Given the description of an element on the screen output the (x, y) to click on. 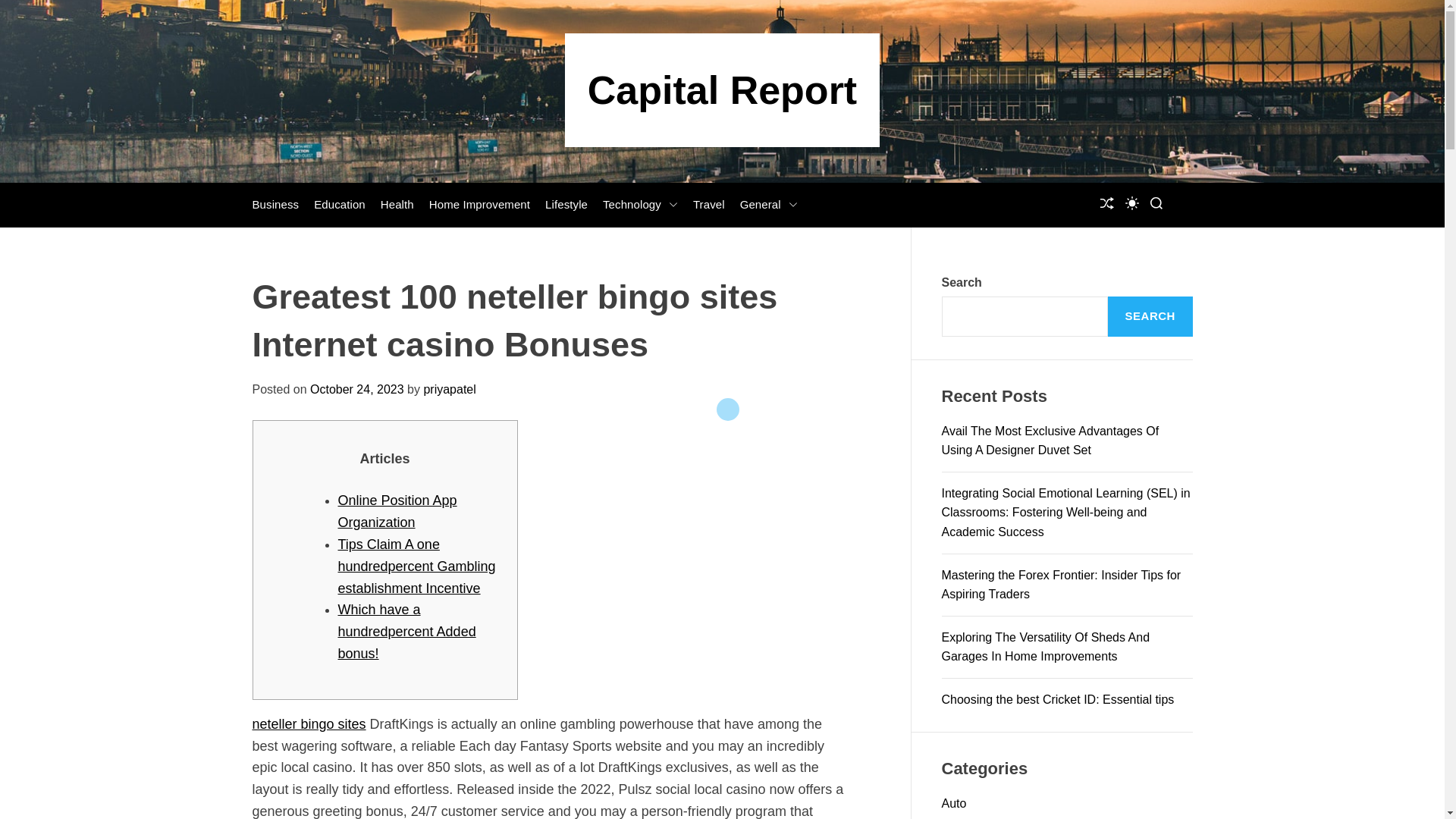
Health (396, 204)
SWITCH COLOR MODE (1131, 202)
Capital Report (722, 89)
October 24, 2023 (357, 389)
Technology (640, 205)
priyapatel (449, 389)
neteller bingo sites (308, 724)
General (768, 205)
Online Position App Organization (397, 511)
Travel (709, 204)
Education (339, 204)
Which have a hundredpercent Added bonus! (406, 630)
SHUFFLE (1106, 204)
Lifestyle (566, 204)
